Given the description of an element on the screen output the (x, y) to click on. 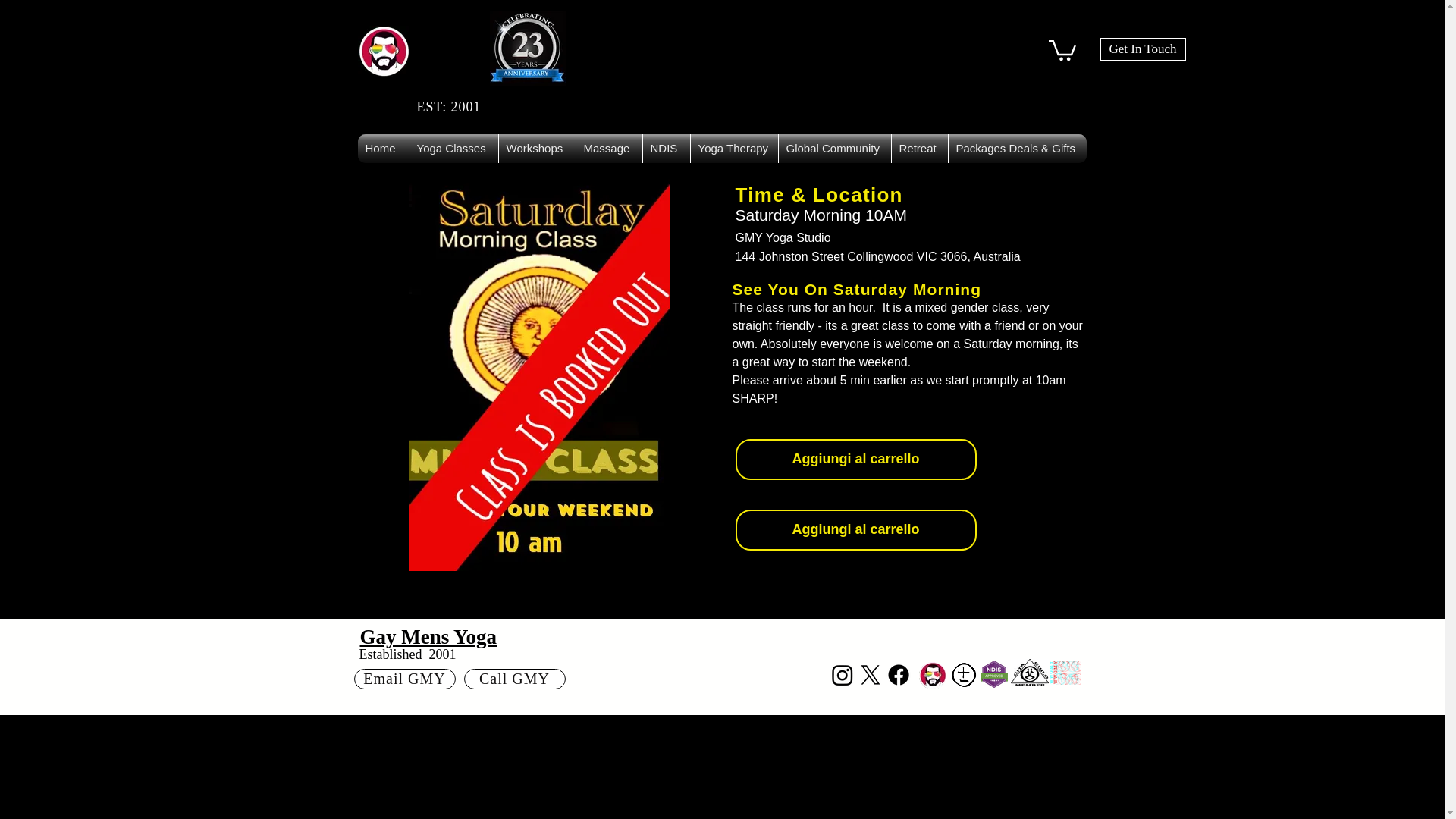
Established  2001 (408, 654)
Gay Mens Yoga (427, 636)
Global Community (833, 148)
Aggiungi al carrello (855, 529)
www.gaymensyoga.com.au (932, 675)
Massage (609, 148)
NDIS (666, 148)
www.gaymensyoga.com.au (527, 48)
Yoga Therapy (733, 148)
Retreat (919, 148)
Home (383, 148)
Email GMY (403, 679)
Workshops (537, 148)
Get In Touch (1142, 48)
www.gaymensyoga.com.au (383, 50)
